Given the description of an element on the screen output the (x, y) to click on. 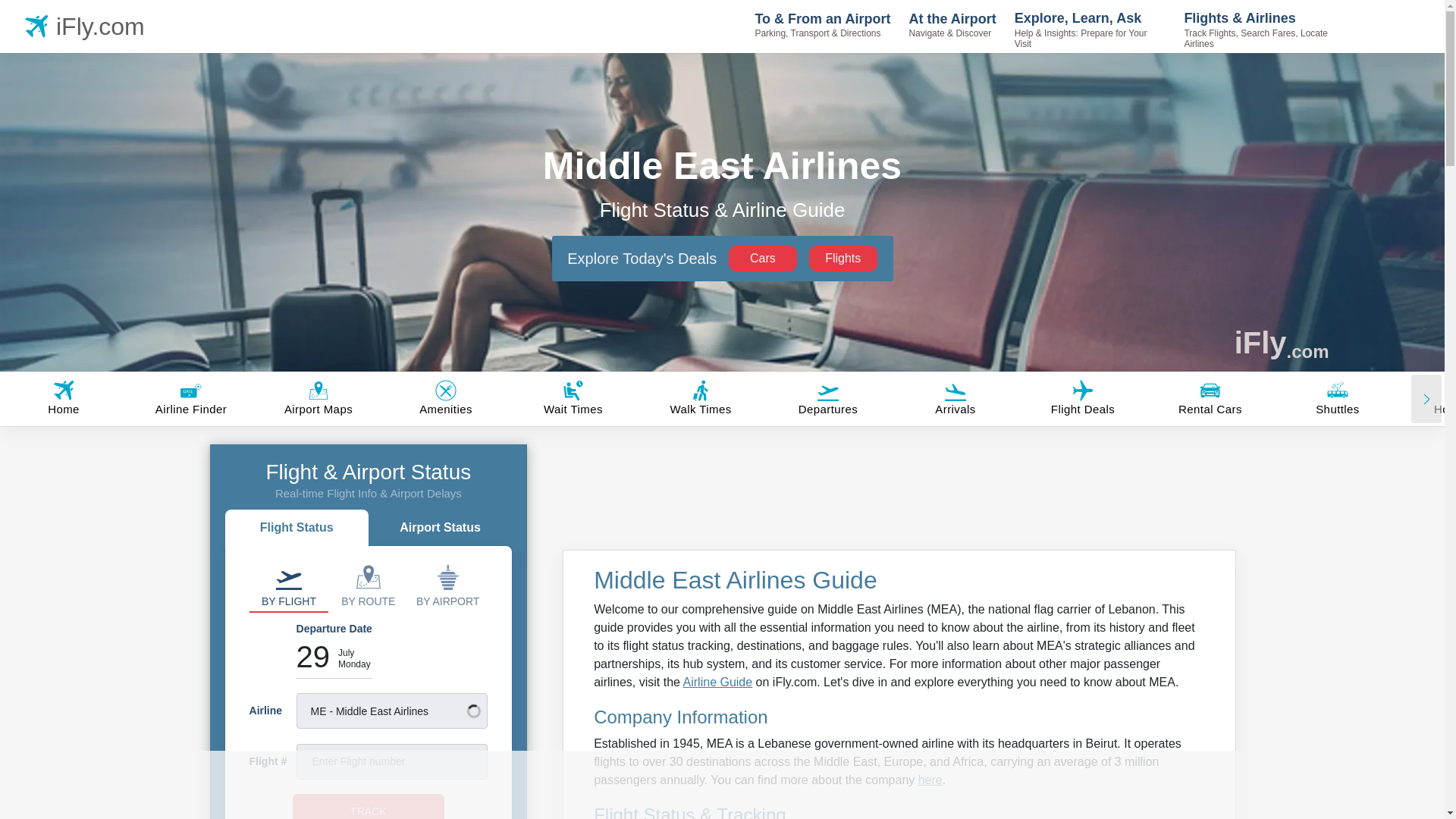
Cars (762, 258)
Flight Status (296, 529)
By Flight (288, 584)
Flights (843, 258)
iFly.com (88, 26)
iFly.com (1281, 342)
By Route (368, 584)
By Airport (447, 584)
Airport Status (440, 529)
